Given the description of an element on the screen output the (x, y) to click on. 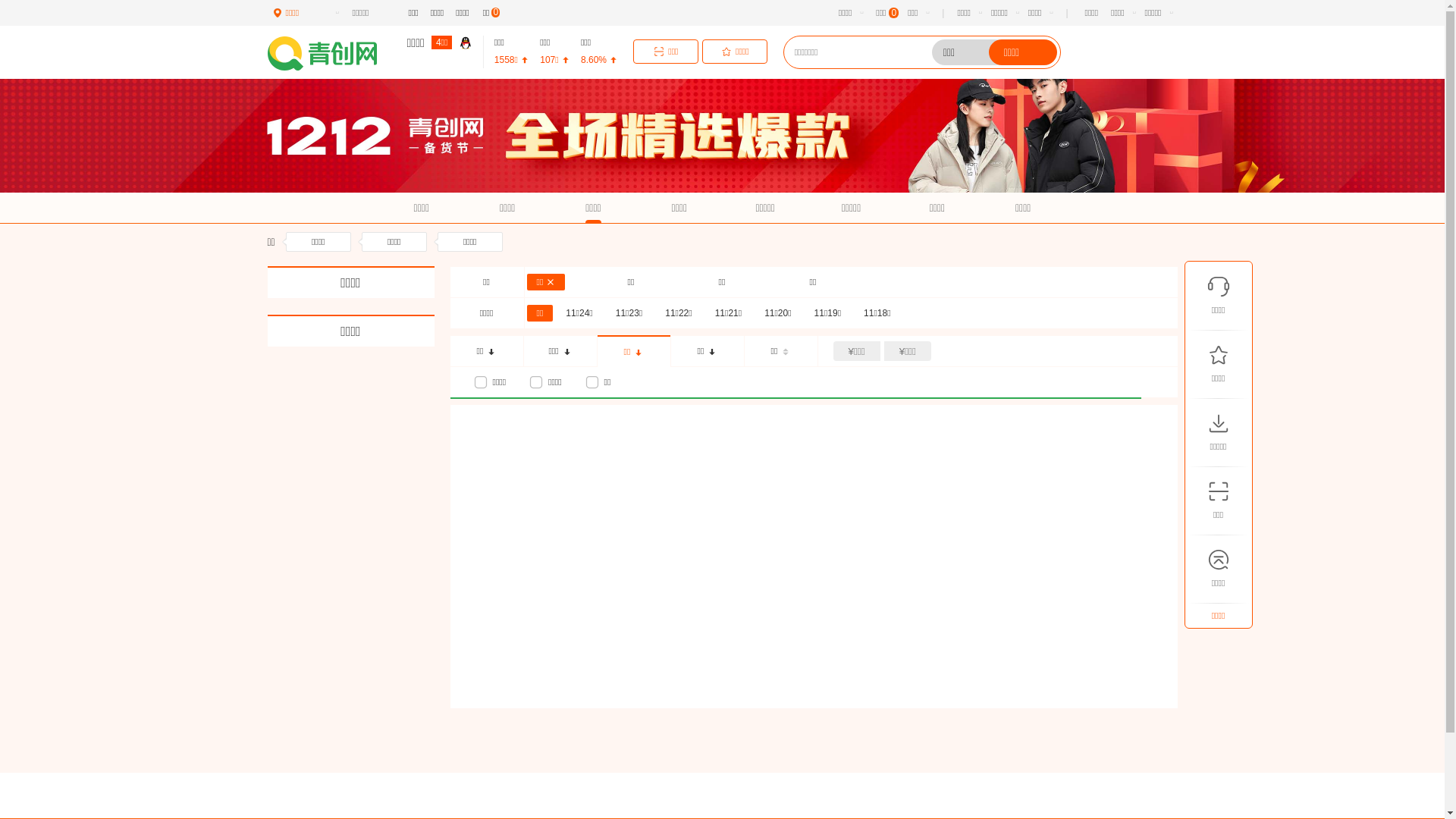
17qcc Element type: text (331, 53)
